Given the description of an element on the screen output the (x, y) to click on. 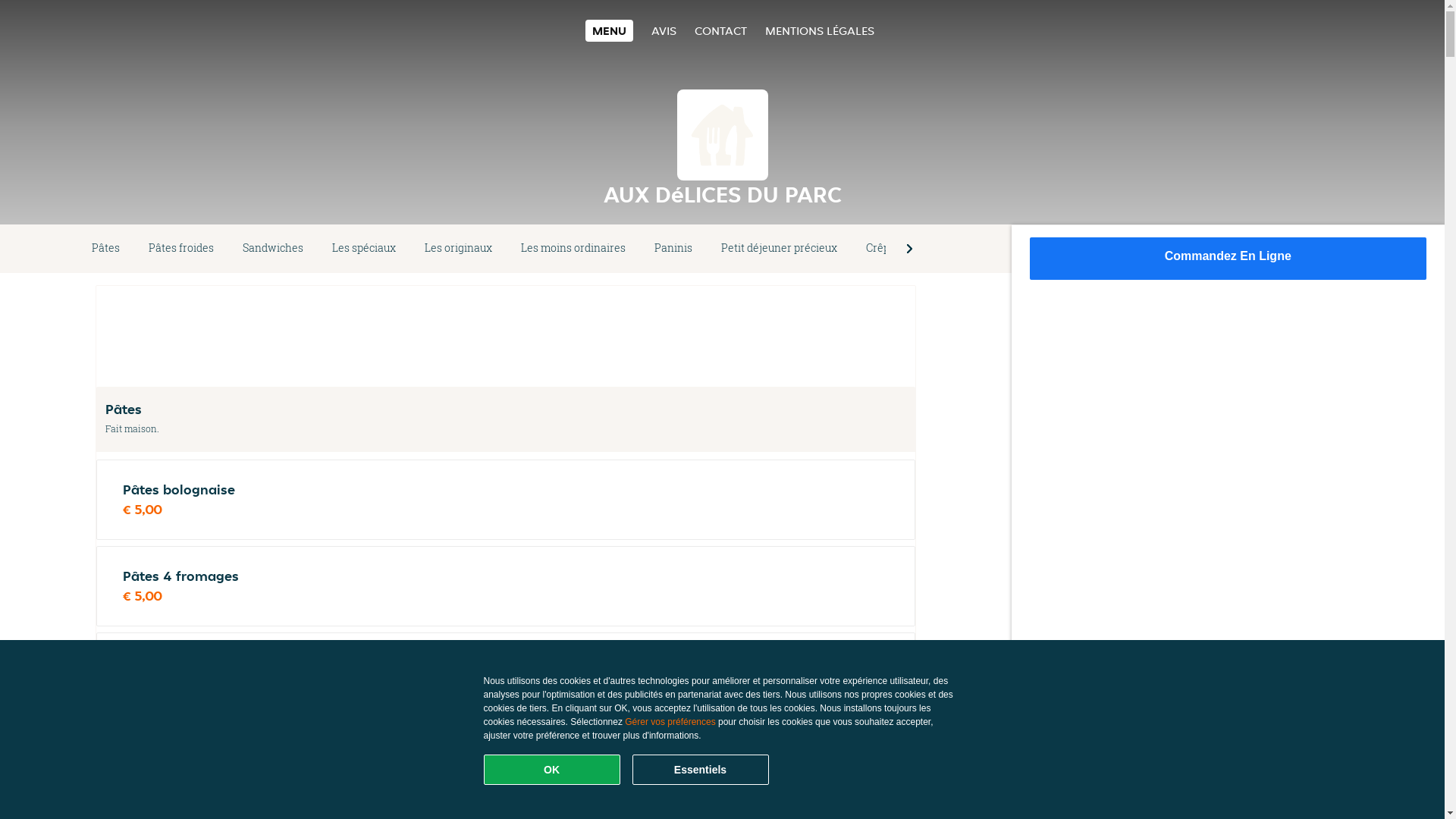
Essentiels Element type: text (700, 769)
Les moins ordinaires Element type: text (573, 248)
CONTACT Element type: text (720, 30)
Paninis Element type: text (673, 248)
AVIS Element type: text (663, 30)
OK Element type: text (551, 769)
Commandez En Ligne Element type: text (1228, 258)
Les originaux Element type: text (458, 248)
MENU Element type: text (609, 30)
Sandwiches Element type: text (272, 248)
